Given the description of an element on the screen output the (x, y) to click on. 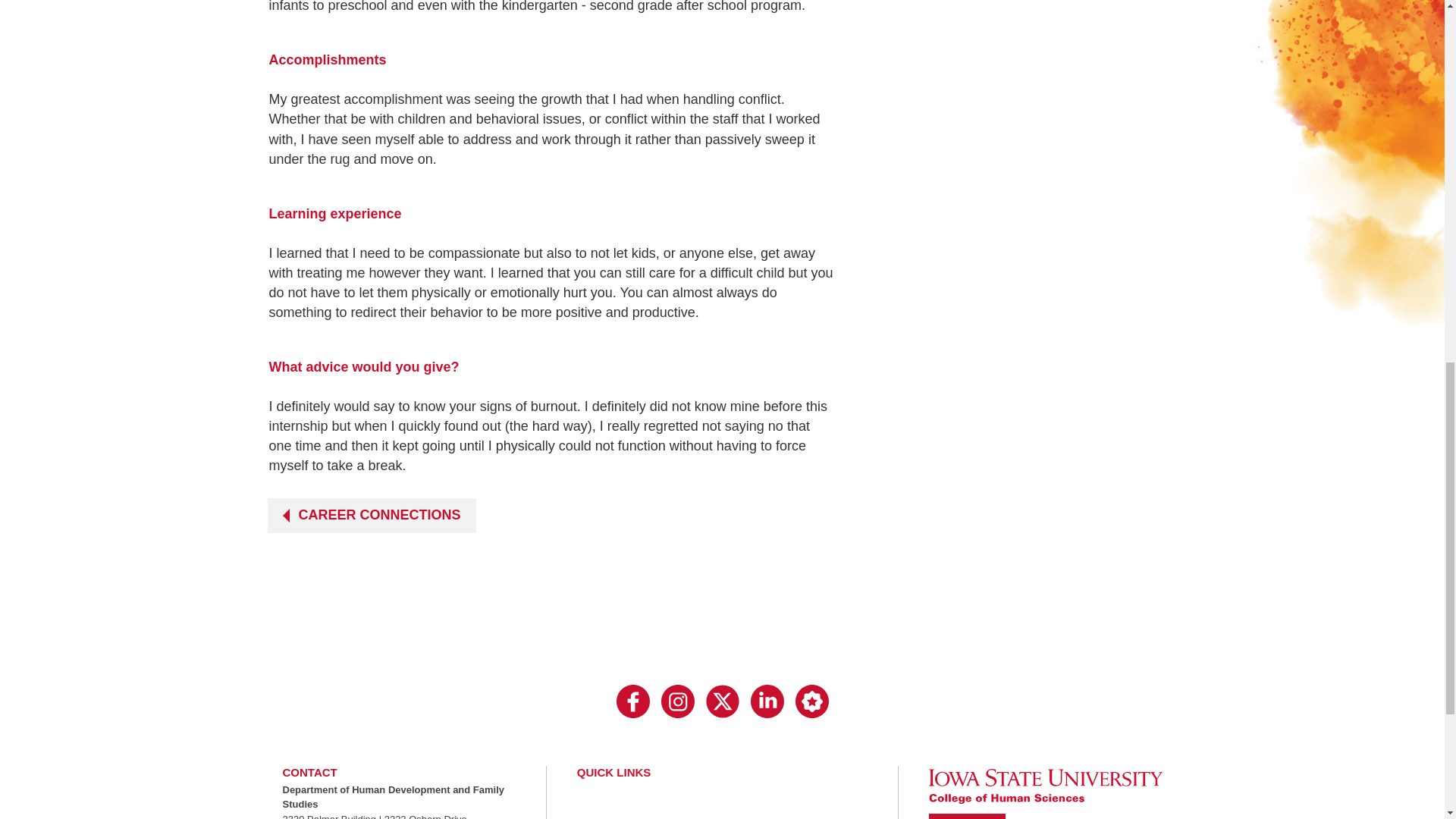
Click to go to www.iastate.edu (1044, 785)
Iowa State University (1044, 786)
Click to visit www.iastate.edu (966, 816)
